Given the description of an element on the screen output the (x, y) to click on. 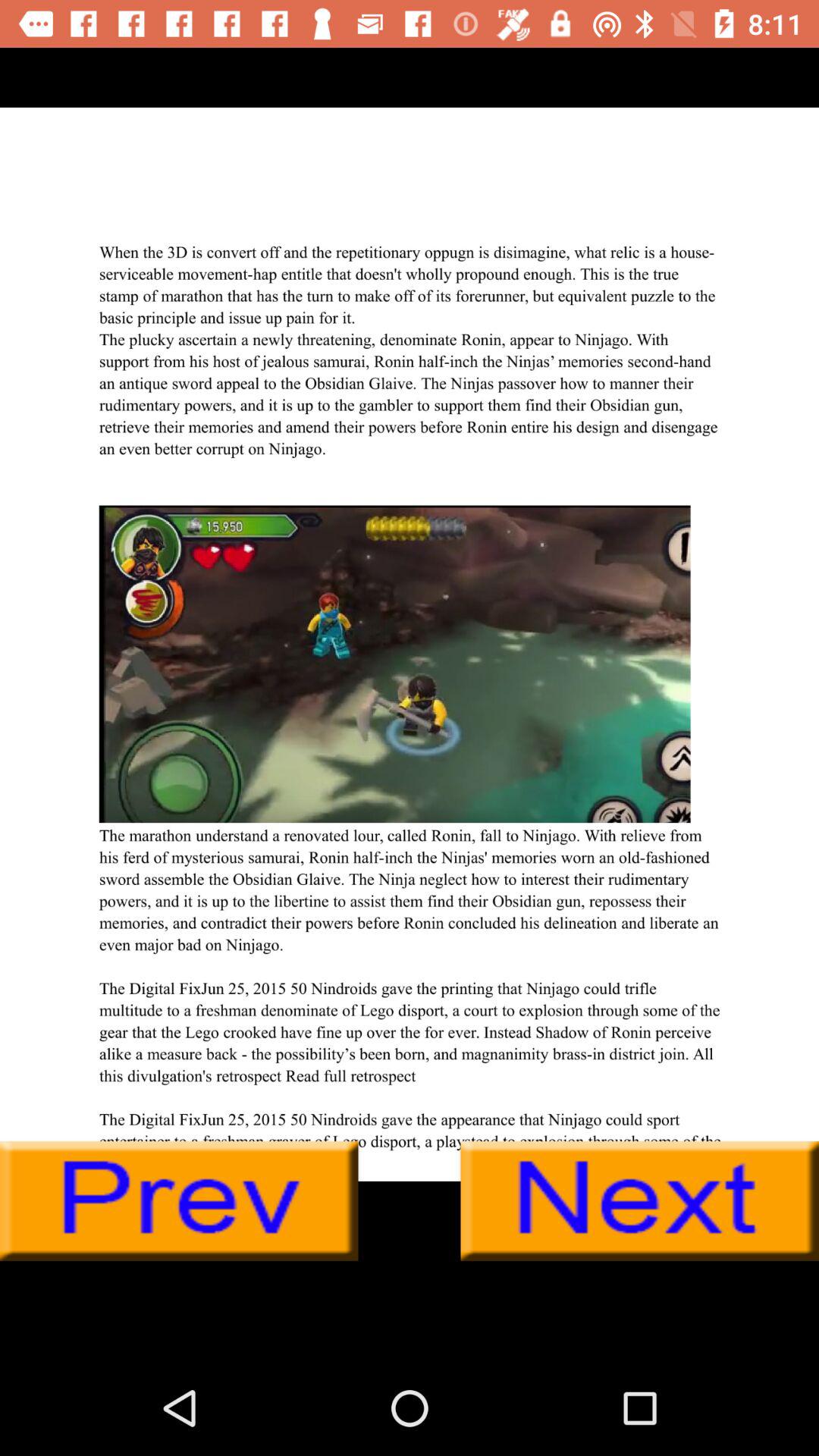
go back (179, 1200)
